Given the description of an element on the screen output the (x, y) to click on. 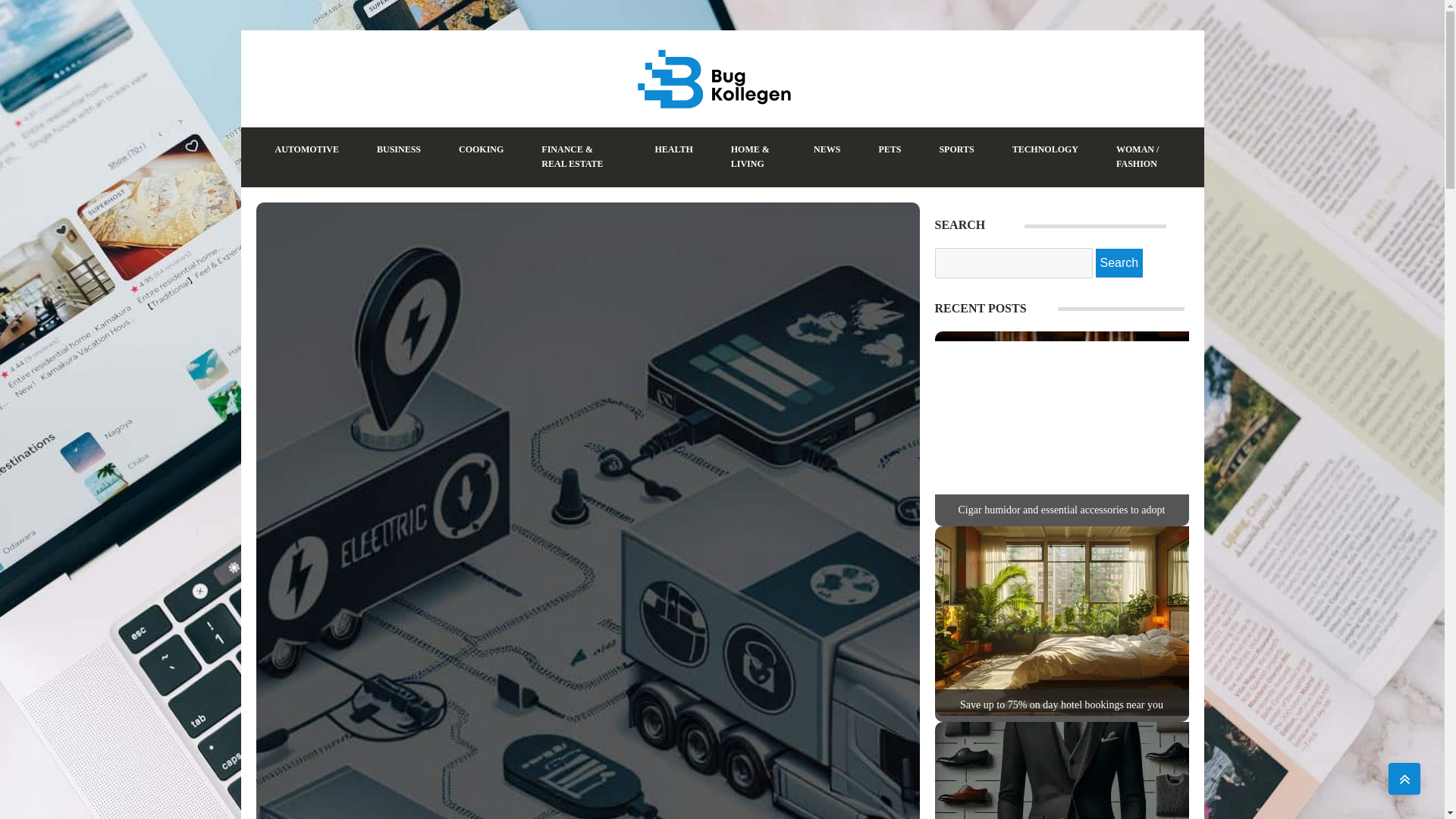
PETS (889, 149)
SPORTS (956, 149)
COOKING (480, 149)
NEWS (826, 149)
BUSINESS (398, 149)
HEALTH (672, 149)
AUTOMOTIVE (307, 149)
